Given the description of an element on the screen output the (x, y) to click on. 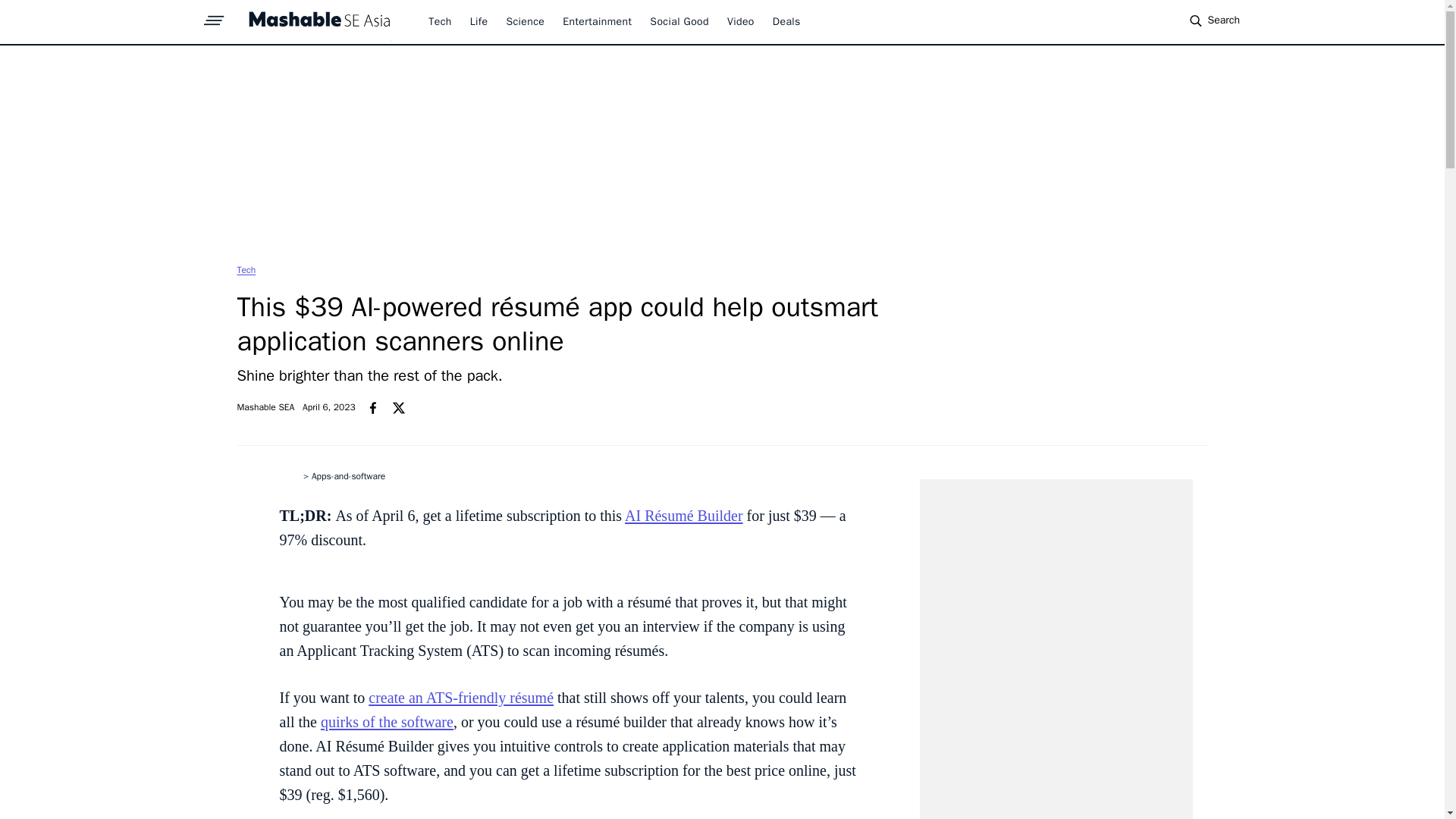
Deals (786, 21)
Science (524, 21)
Tech (245, 269)
Video (740, 21)
Life (478, 21)
quirks of the software (386, 721)
Tech (245, 269)
sprite-hamburger (213, 16)
Tech (439, 21)
Social Good (679, 21)
Entertainment (596, 21)
